Given the description of an element on the screen output the (x, y) to click on. 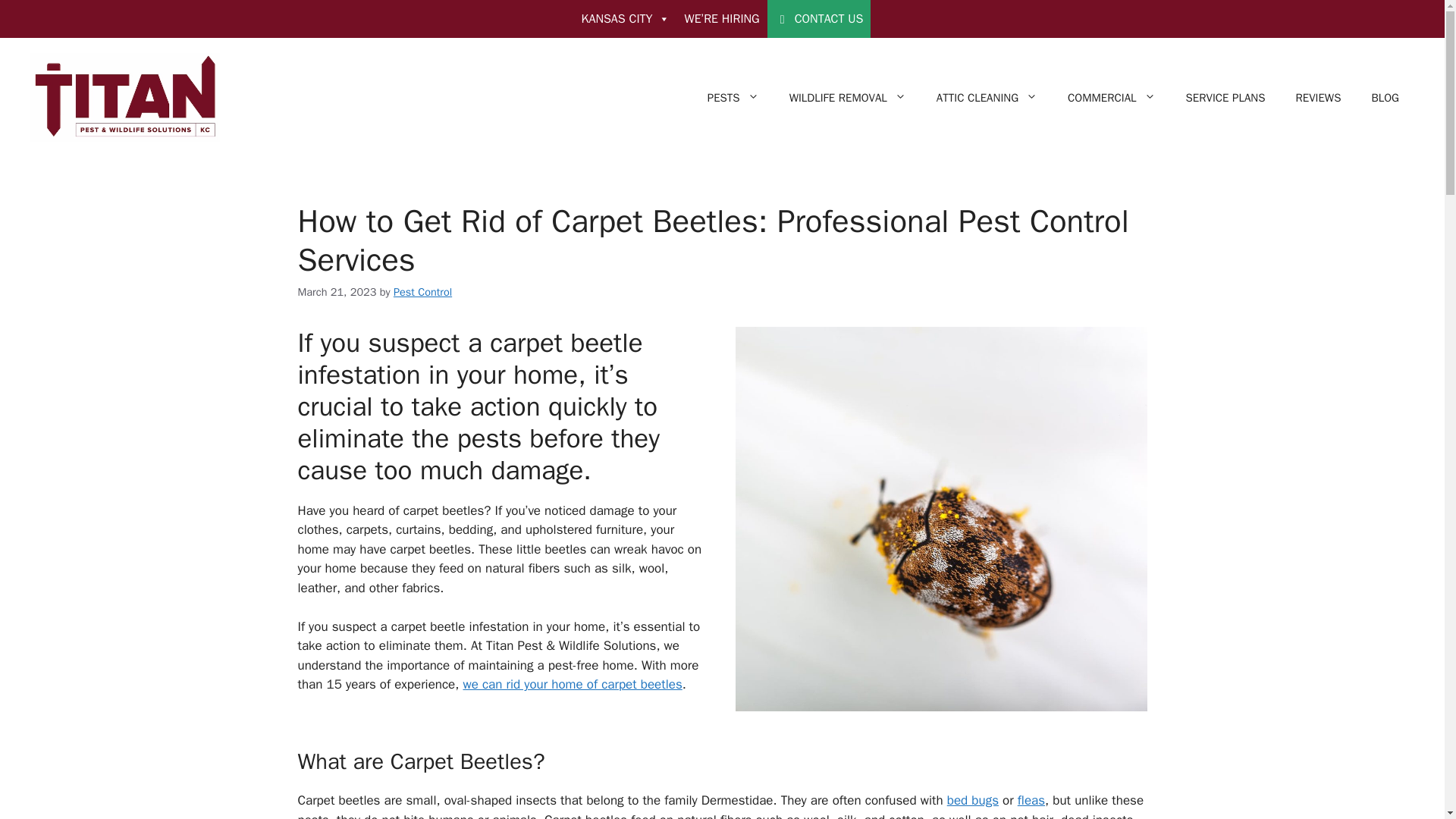
CONTACT US (818, 18)
PESTS (733, 97)
KANSAS CITY (625, 18)
WILDLIFE REMOVAL (847, 97)
View all posts by Pest Control (422, 291)
